Given the description of an element on the screen output the (x, y) to click on. 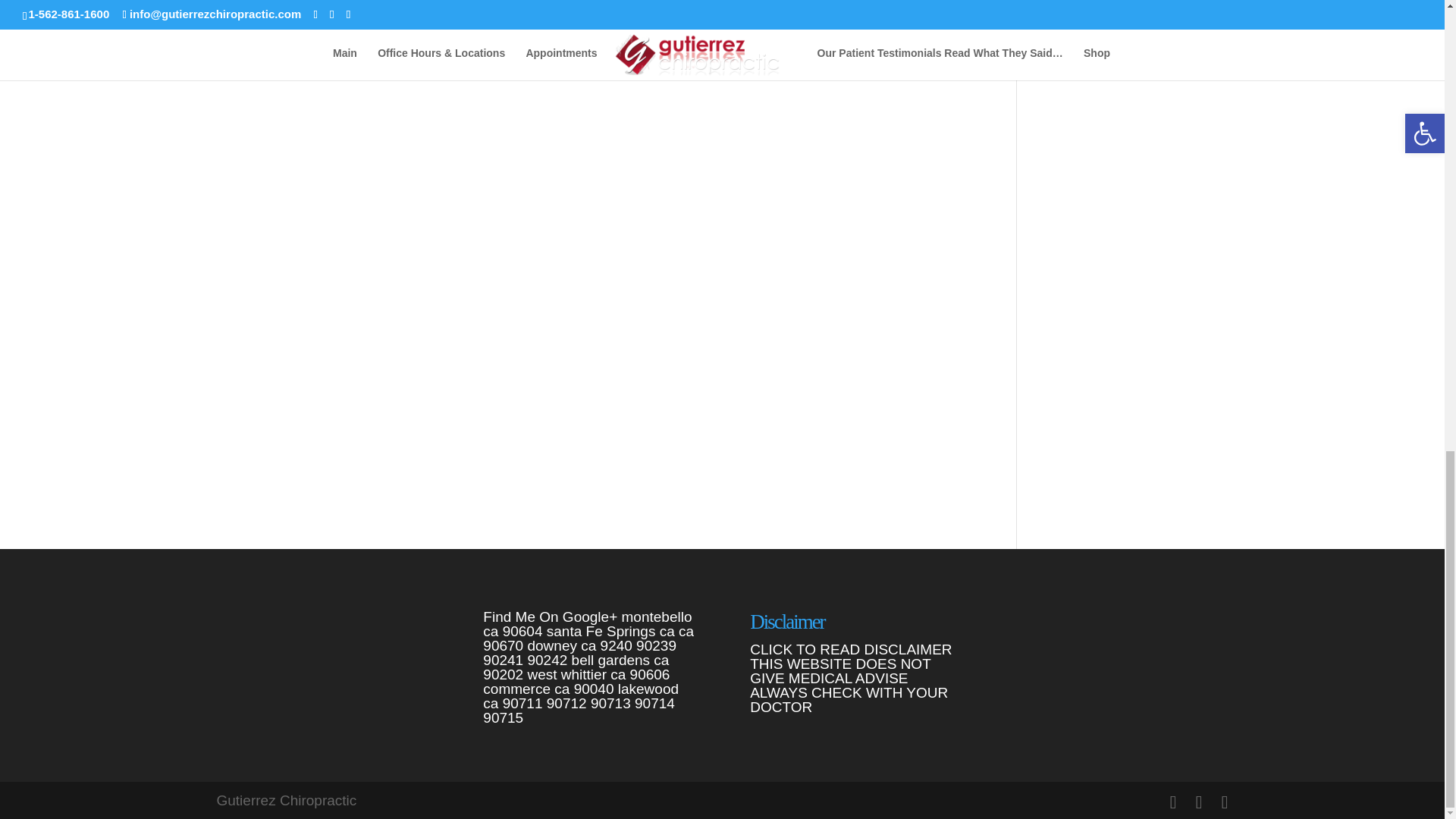
montebello ca 90604 (587, 624)
santa Fe Springs ca ca 90670 (588, 638)
downey ca 9240 90239 90241 90242 (580, 653)
